Given the description of an element on the screen output the (x, y) to click on. 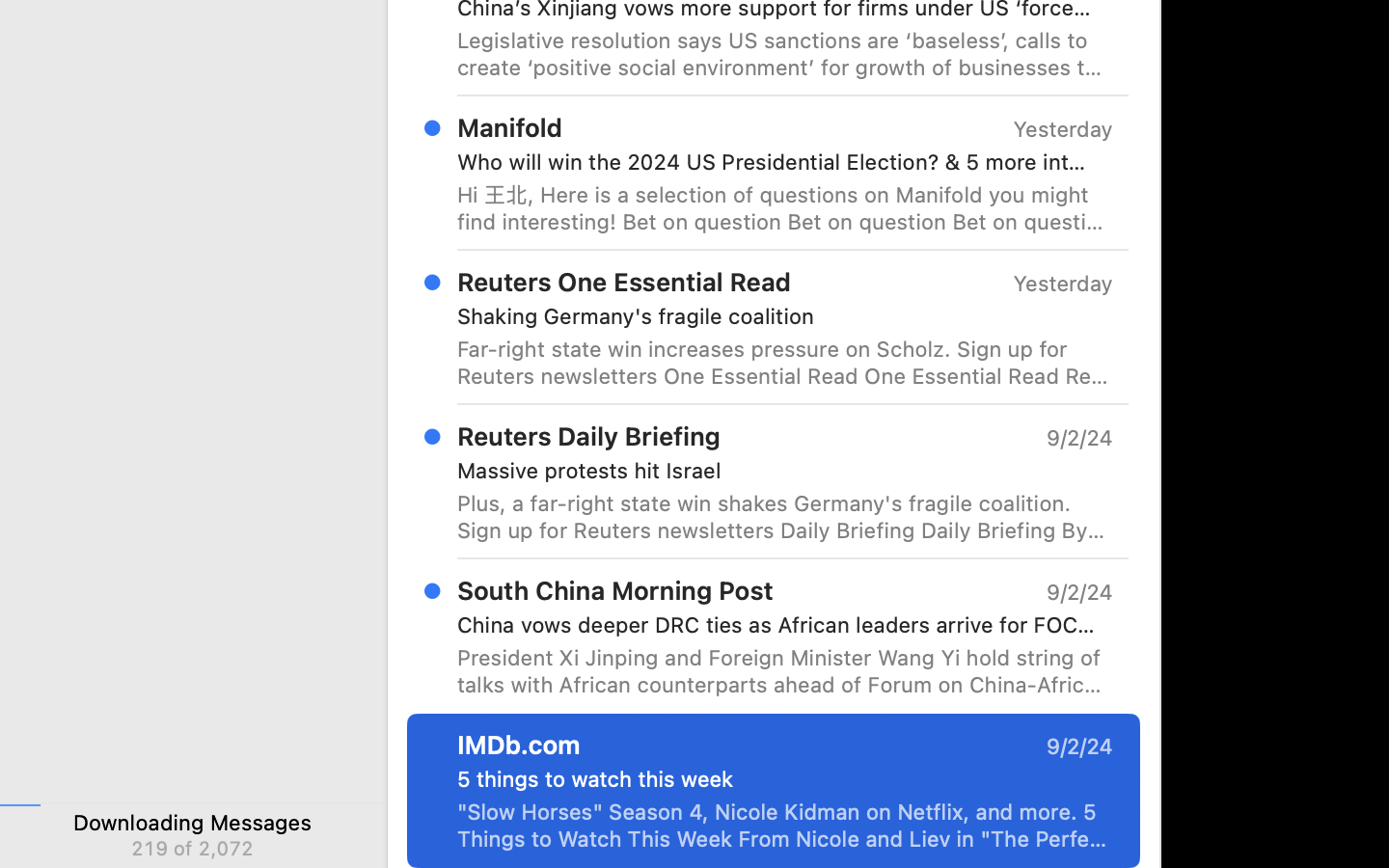
"Slow Horses" Season 4, Nicole Kidman on Netflix, and more. 5 Things to Watch This Week From Nicole and Liev in "The Perfect Couple" to the return of the Emmy-nominated series "Slow Horses," these picks will help you kick off September in style. See the best of what's new on TV this week with our list of five things to watch. See the list Slow Horses Season 4 of this spy drama raises the stakes as the Slough House crew investigates a bombing when the series returns to Apple TV+. Learn more Tell Me Lies Lucy and Stephen return to Baird College as the fallout from their relationship continues to resonate in Season 2 of this Hulu drama. Learn more The Perfect Couple An idyllic Nantucket wedding crumbles when a body is found in the bay, turning everyone into a suspect in this Netflix limited series based on the bestselling novel by Elin Hilderbrand. Learn more The Boy and the Heron Mahito ventures into the world of the dead after his mother's passing in this Academy Award-winning film's st Element type: AXStaticText (784, 825)
Reuters One Essential Read Element type: AXStaticText (623, 281)
9/2/24 Element type: AXStaticText (1078, 591)
Reuters Daily Briefing Element type: AXStaticText (589, 435)
China vows deeper DRC ties as African leaders arrive for FOCAC meetings Element type: AXStaticText (777, 624)
